Given the description of an element on the screen output the (x, y) to click on. 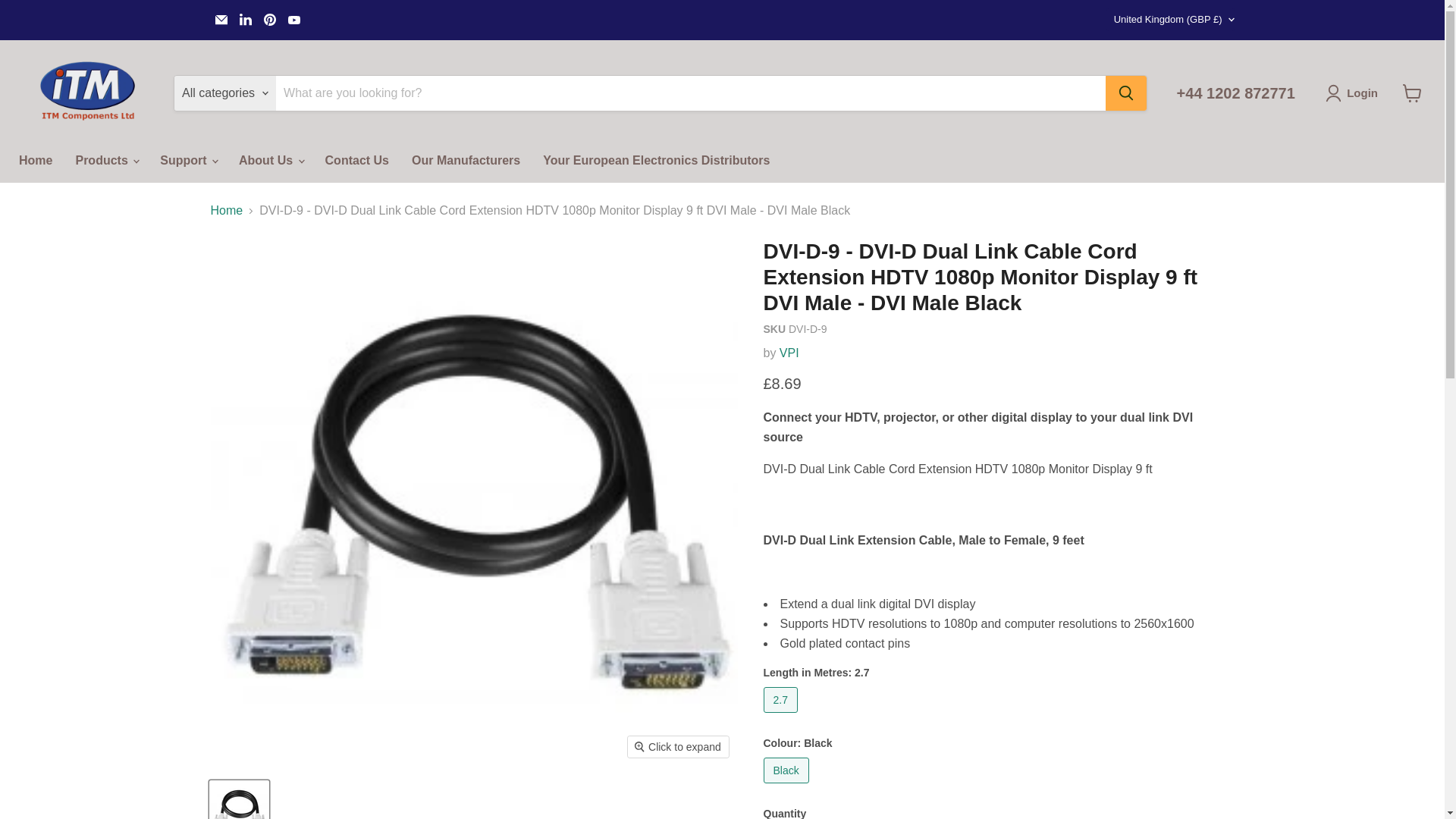
Find us on LinkedIn (245, 19)
Pinterest (270, 19)
VPI (788, 352)
Email (221, 19)
Find us on YouTube (293, 19)
Find us on Pinterest (270, 19)
Email ITM Components (221, 19)
YouTube (293, 19)
LinkedIn (245, 19)
